Given the description of an element on the screen output the (x, y) to click on. 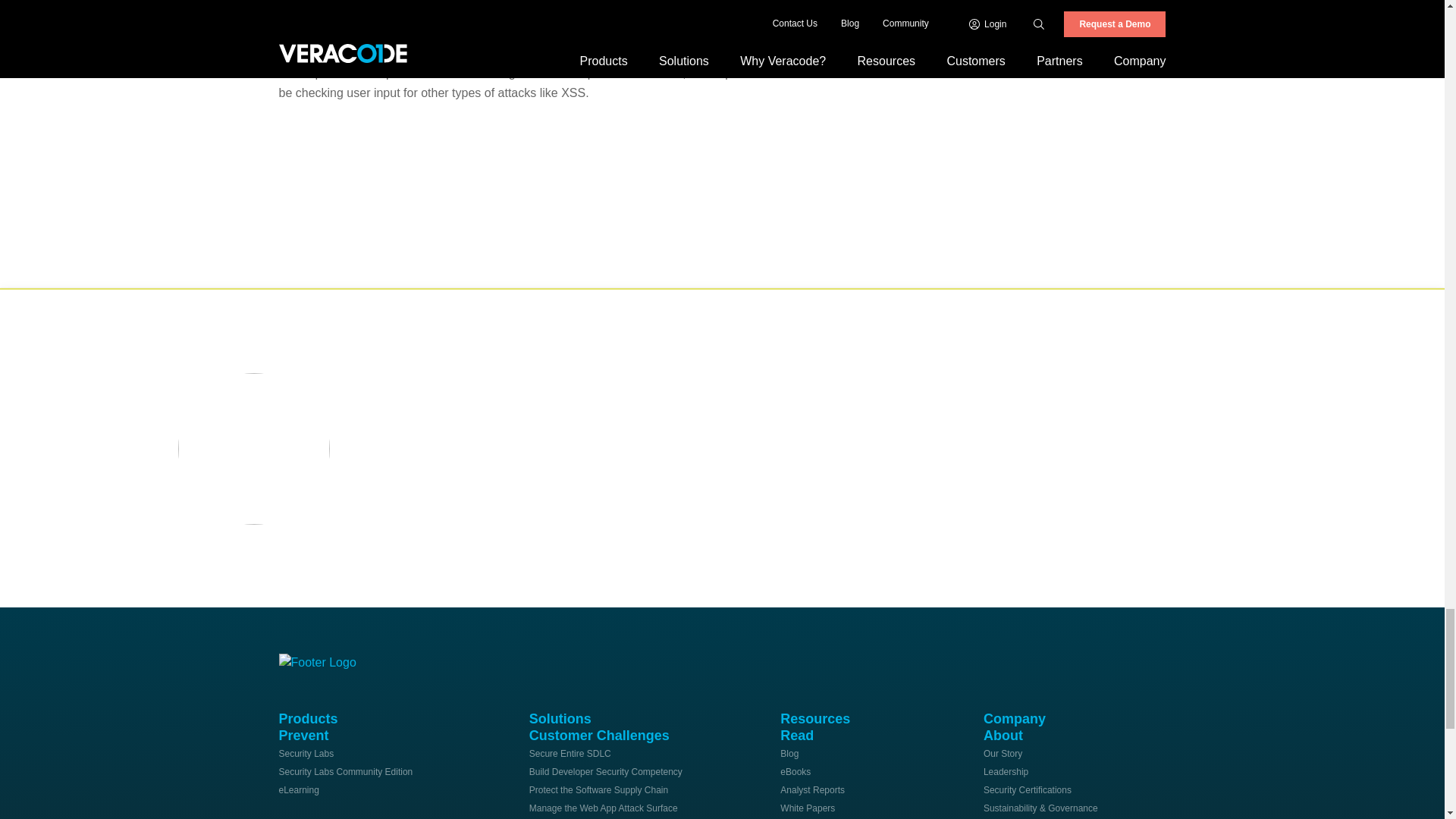
VeraCode (325, 659)
